Given the description of an element on the screen output the (x, y) to click on. 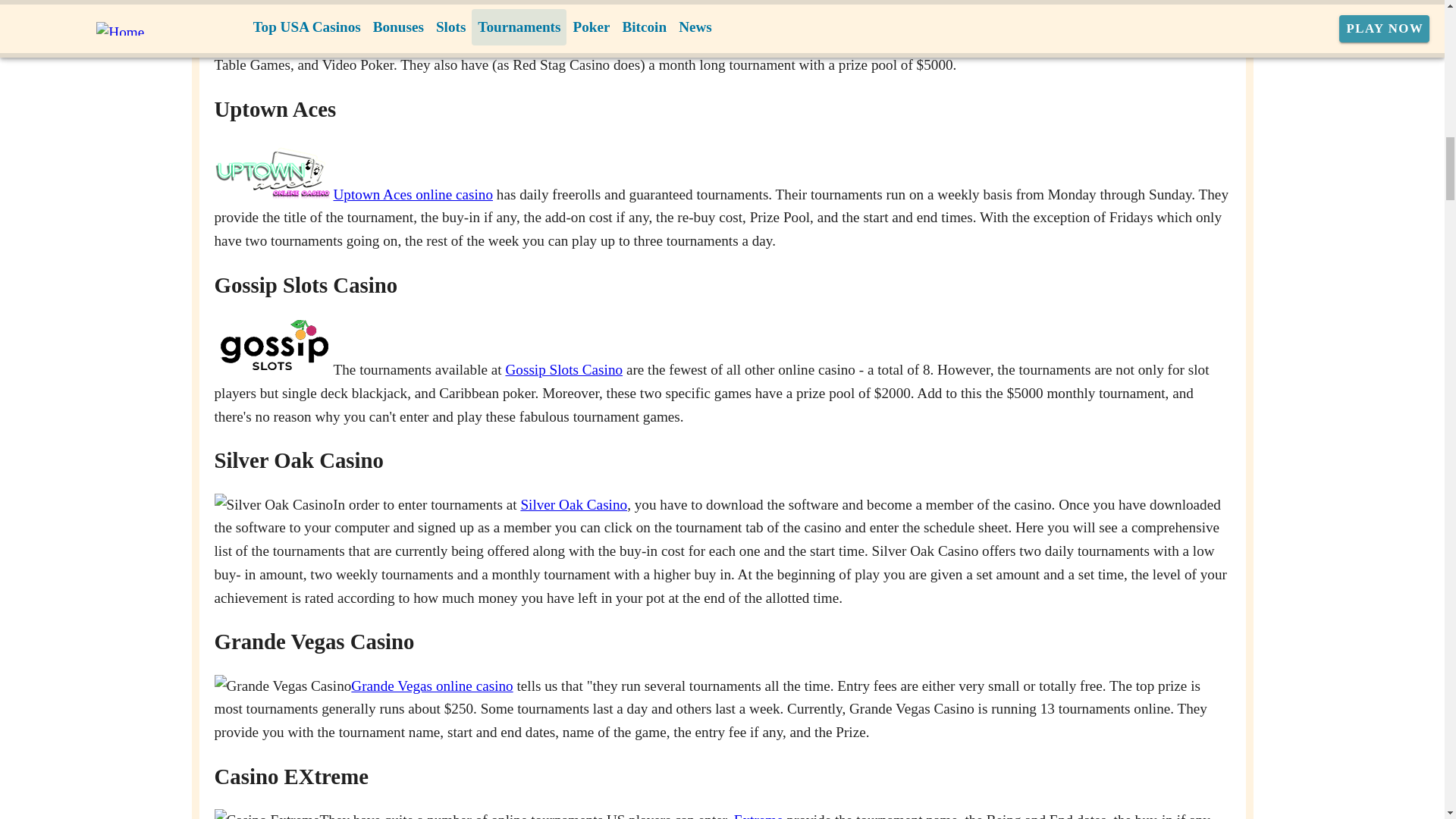
Gossip Slots Casino (564, 369)
Uptown Aces online casino (413, 194)
Miami Club Casino (901, 41)
Grande Vegas online casino (431, 685)
Extreme (758, 815)
Silver Oak Casino (573, 504)
